Given the description of an element on the screen output the (x, y) to click on. 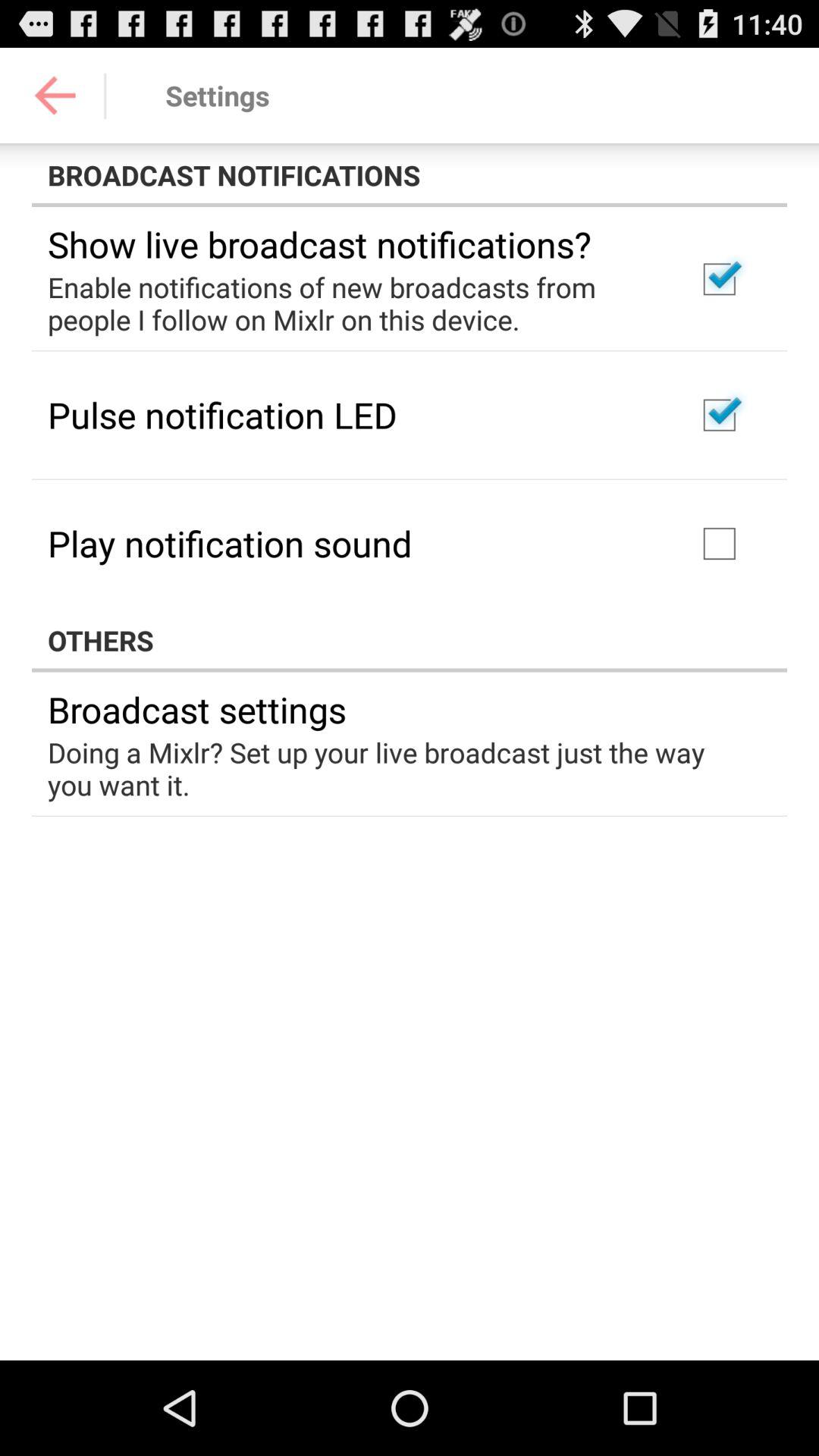
turn off doing a mixlr icon (399, 768)
